Given the description of an element on the screen output the (x, y) to click on. 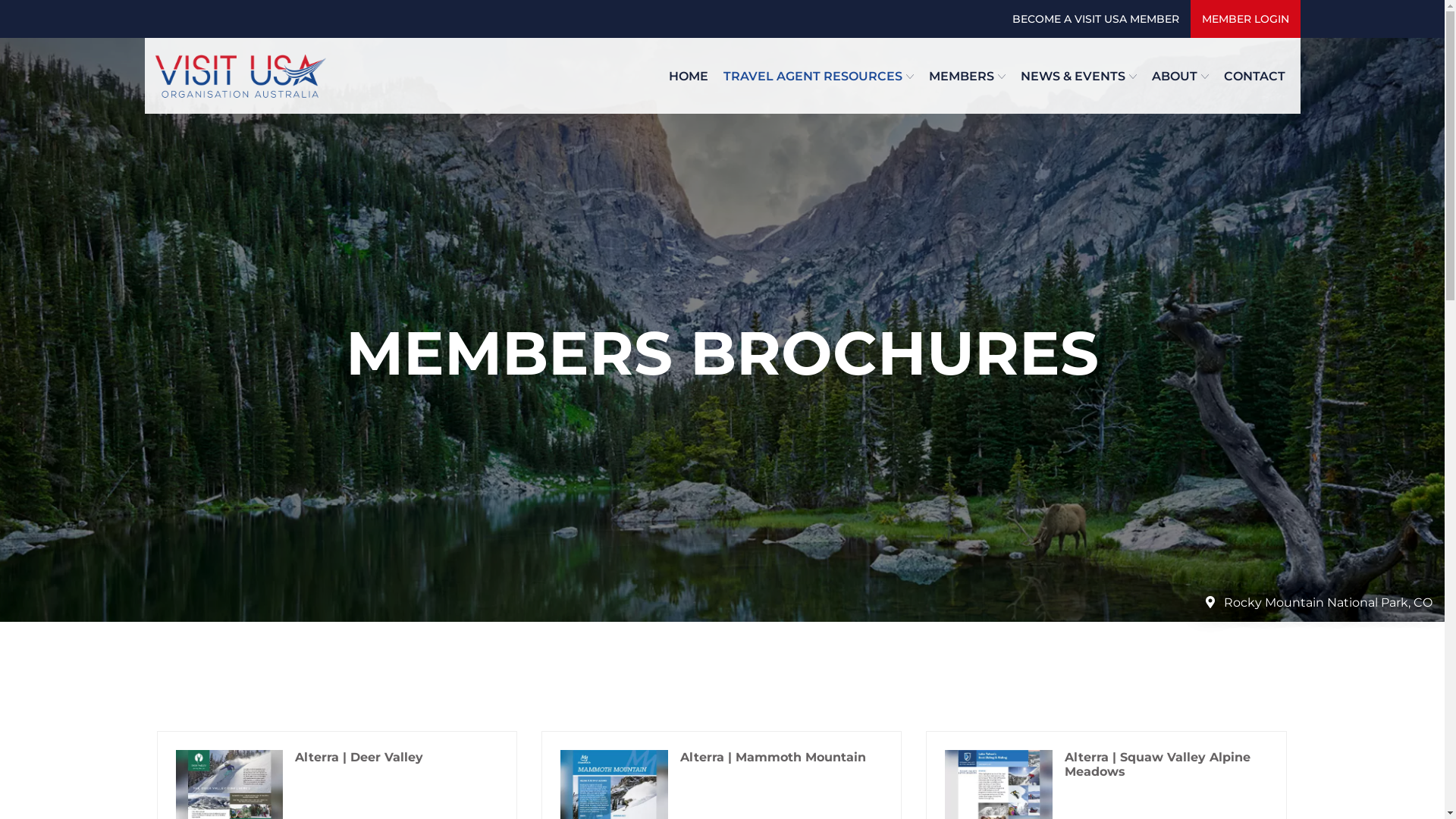
MEMBERS Element type: text (966, 75)
MEMBER LOGIN Element type: text (1245, 18)
CONTACT Element type: text (1254, 75)
BECOME A VISIT USA MEMBER Element type: text (1095, 18)
TRAVEL AGENT RESOURCES Element type: text (818, 75)
ABOUT Element type: text (1179, 75)
HOME Element type: text (688, 75)
NEWS & EVENTS Element type: text (1078, 75)
